Given the description of an element on the screen output the (x, y) to click on. 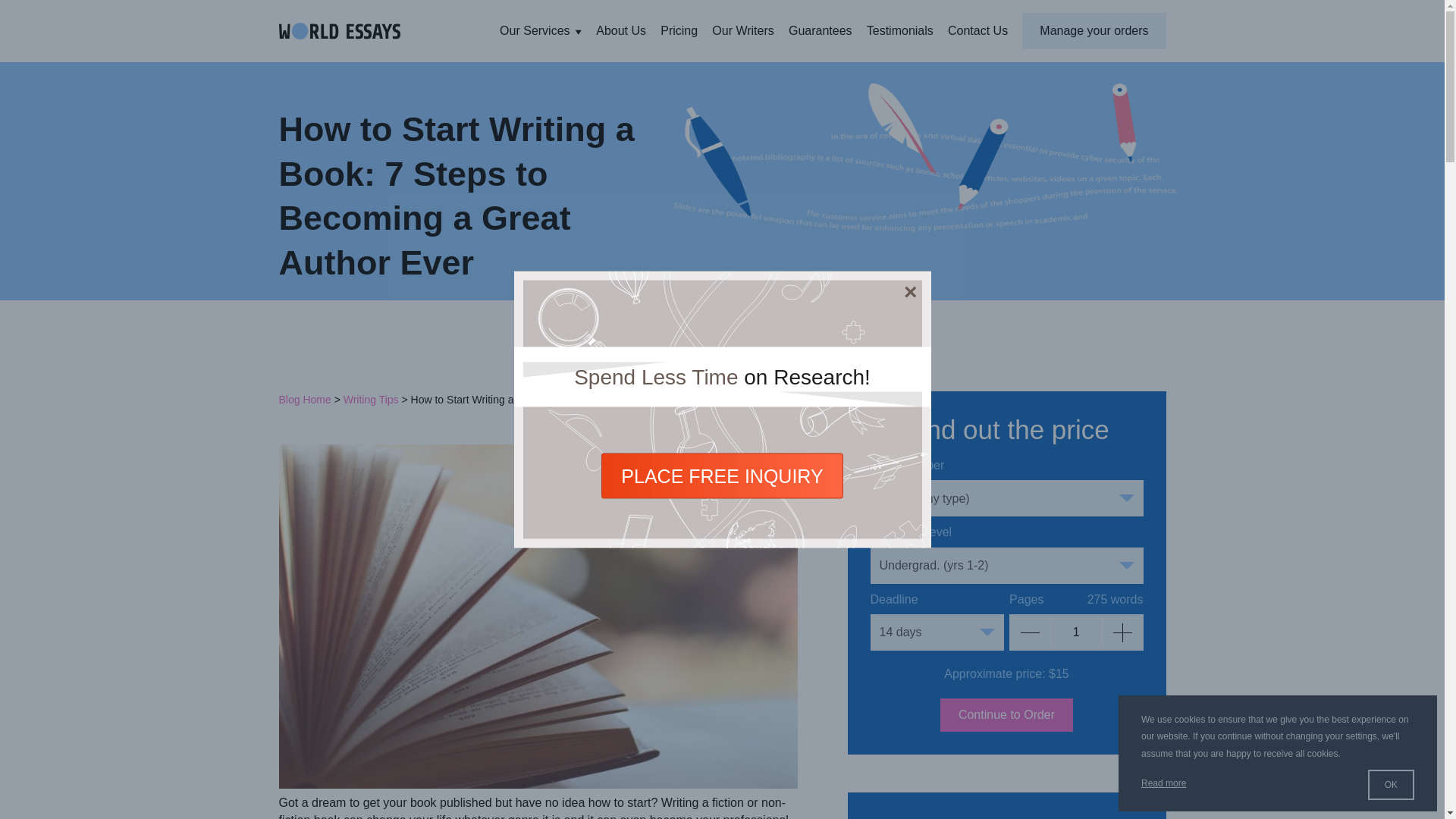
Our Writers (742, 31)
Continue to Order (1006, 715)
Guarantees (819, 31)
Writing Tips (370, 399)
Go to the Writing Tips category archives. (370, 399)
1 (1075, 632)
About Us (621, 31)
Blog Home (305, 399)
Testimonials (899, 31)
Go to WorldEssays.com. (305, 399)
Manage your orders (1094, 31)
Contact Us (977, 31)
Order paper (1006, 715)
